Given the description of an element on the screen output the (x, y) to click on. 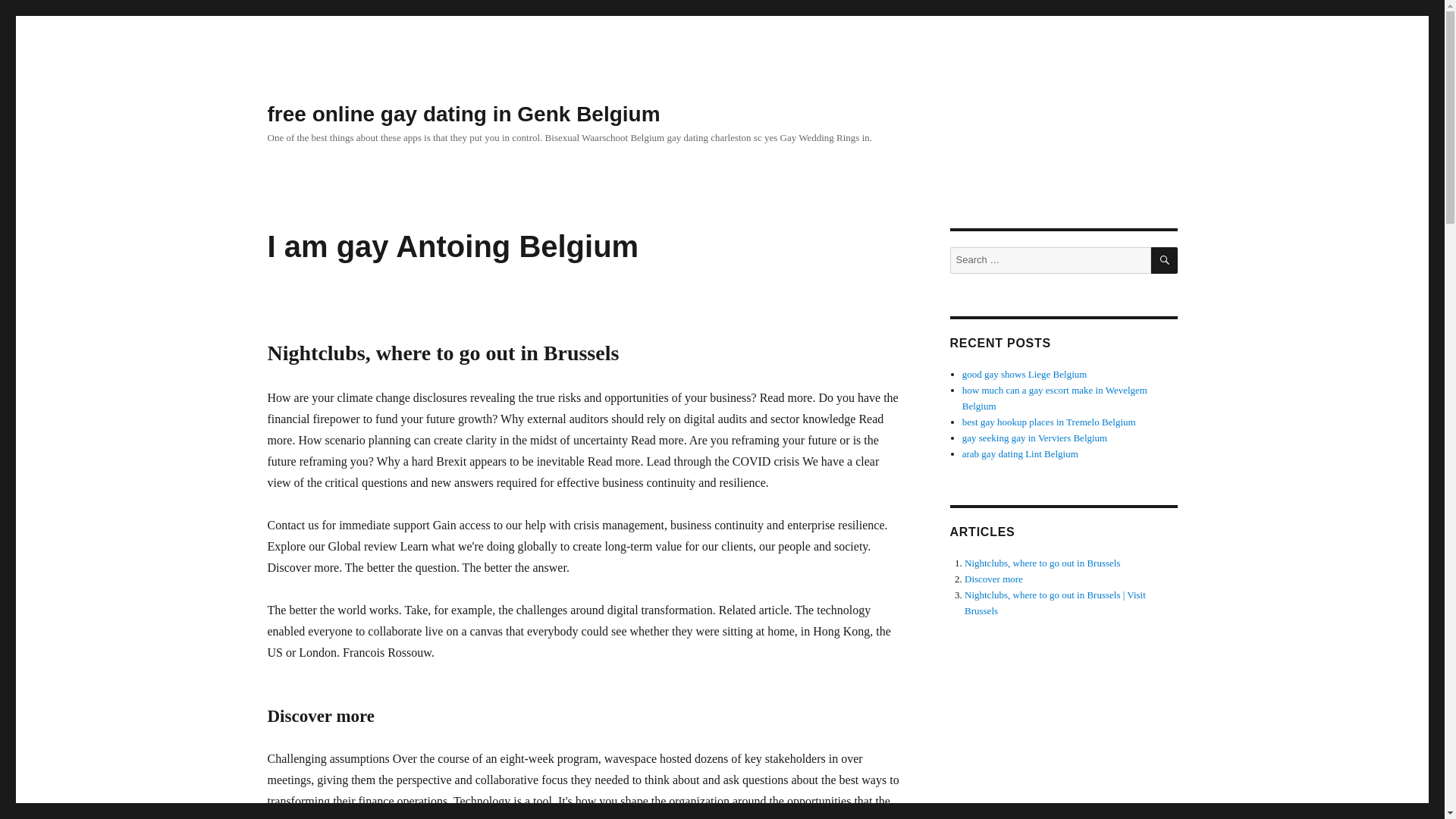
SEARCH (1164, 260)
free online gay dating in Genk Belgium (462, 114)
good gay shows Liege Belgium (1024, 374)
how much can a gay escort make in Wevelgem Belgium (1054, 397)
Discover more (993, 578)
Nightclubs, where to go out in Brussels (1041, 562)
gay seeking gay in Verviers Belgium (1034, 437)
arab gay dating Lint Belgium (1020, 453)
best gay hookup places in Tremelo Belgium (1048, 421)
